Given the description of an element on the screen output the (x, y) to click on. 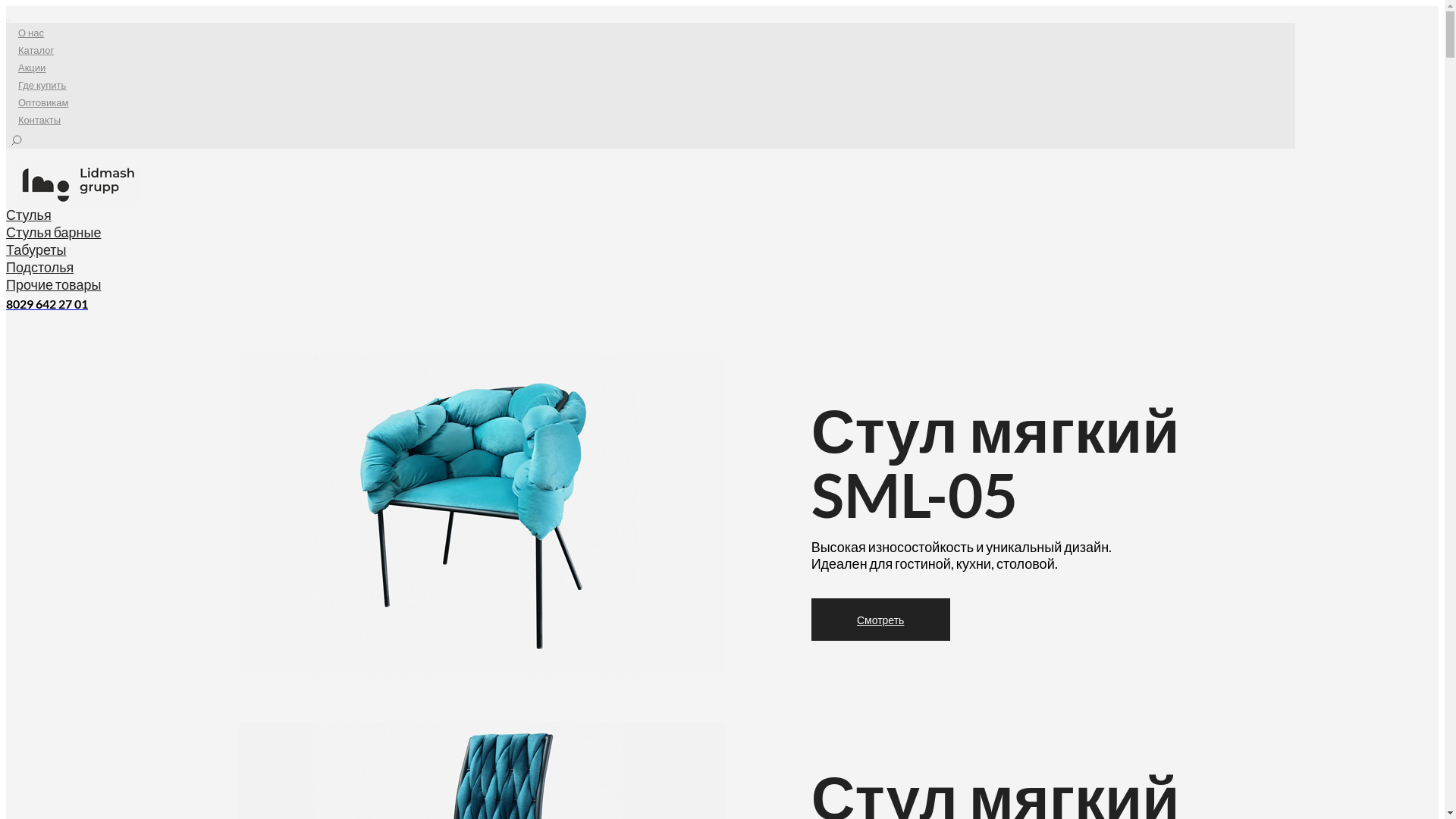
8029 642 27 01 Element type: text (46, 302)
